Given the description of an element on the screen output the (x, y) to click on. 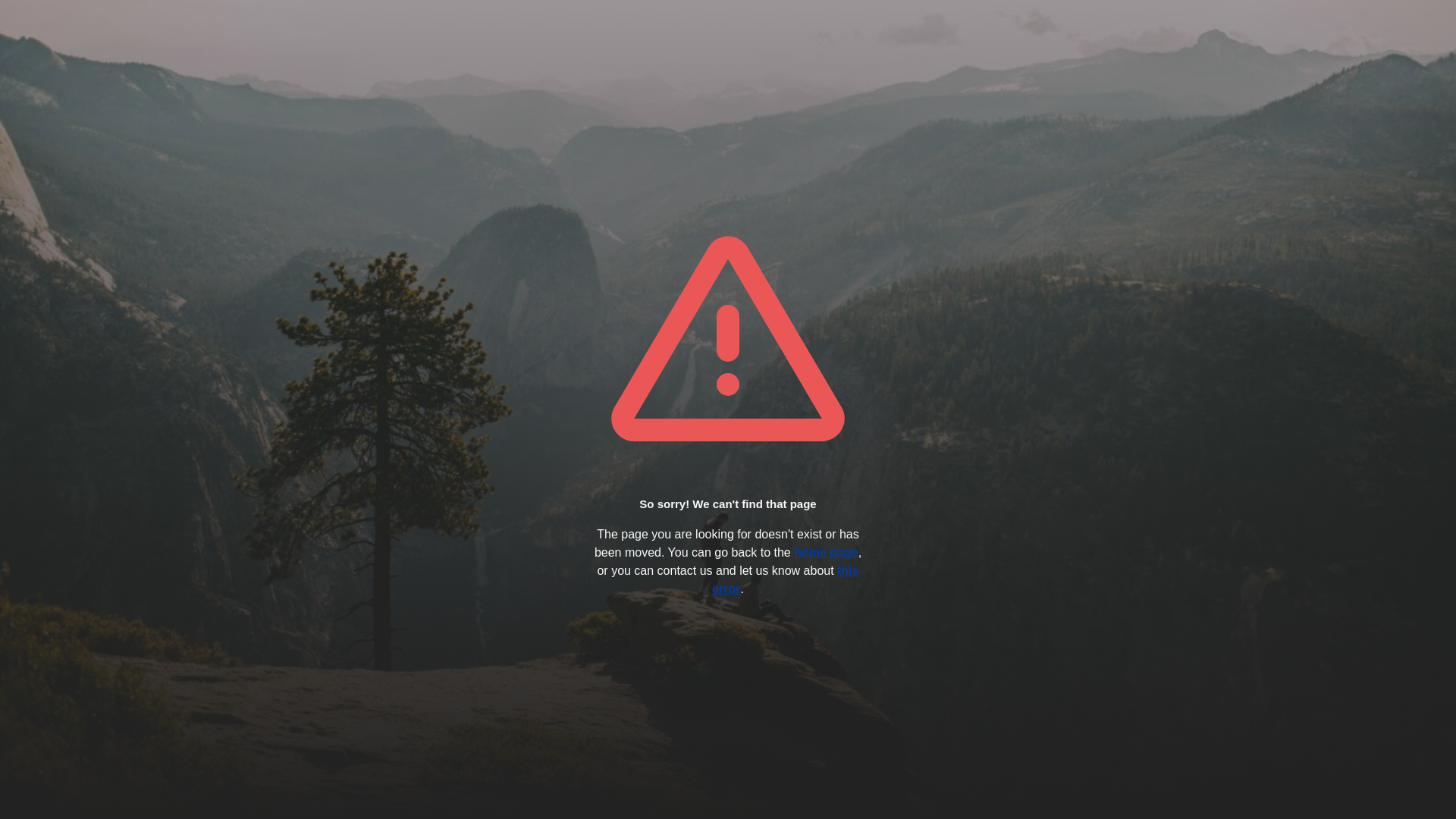
this error Element type: text (785, 579)
home page Element type: text (825, 552)
